Given the description of an element on the screen output the (x, y) to click on. 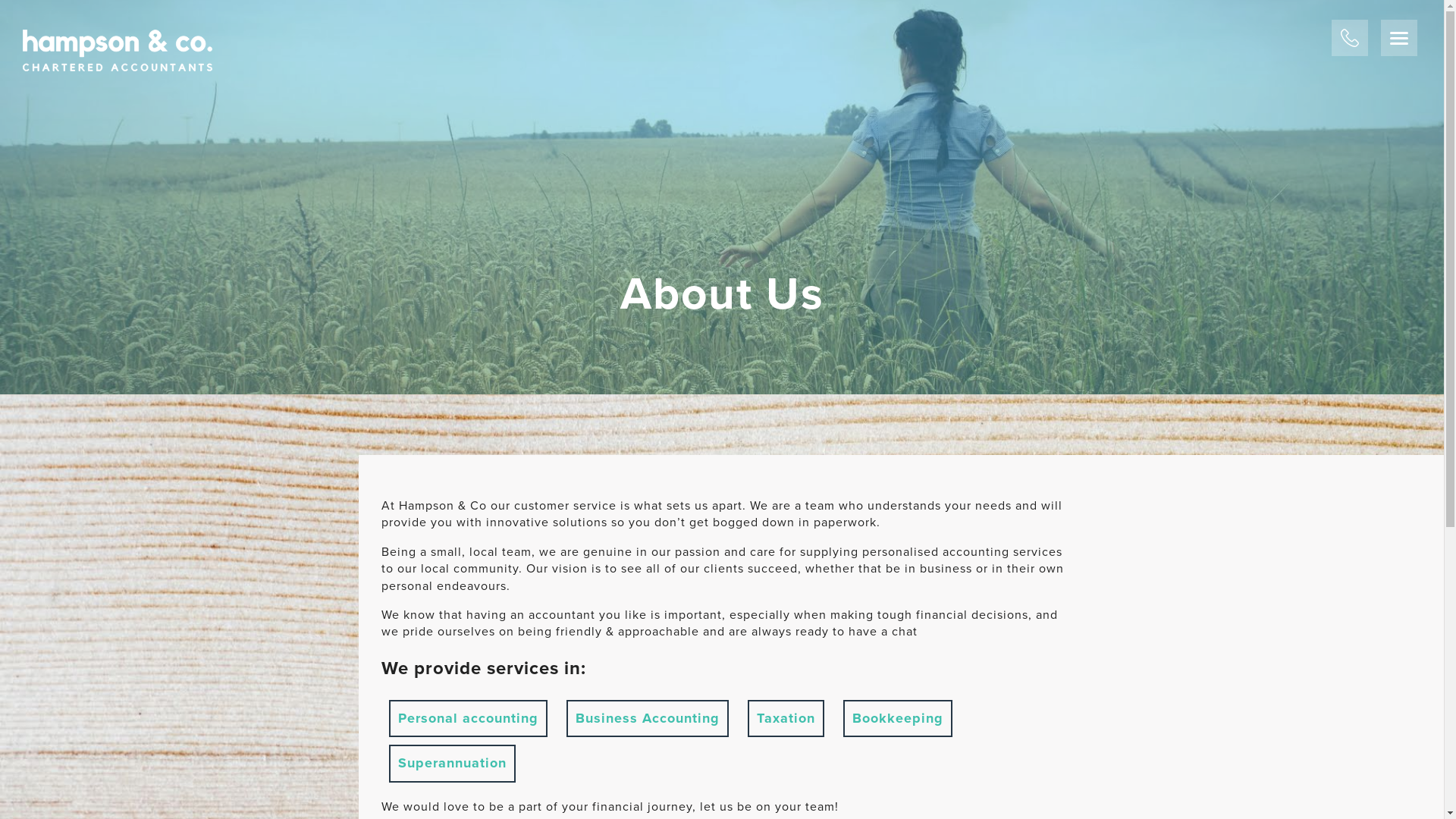
Business Accounting Element type: text (646, 718)
Superannuation Element type: text (451, 763)
Bookkeeping Element type: text (897, 718)
Taxation Element type: text (785, 718)
Personal accounting Element type: text (467, 718)
